Given the description of an element on the screen output the (x, y) to click on. 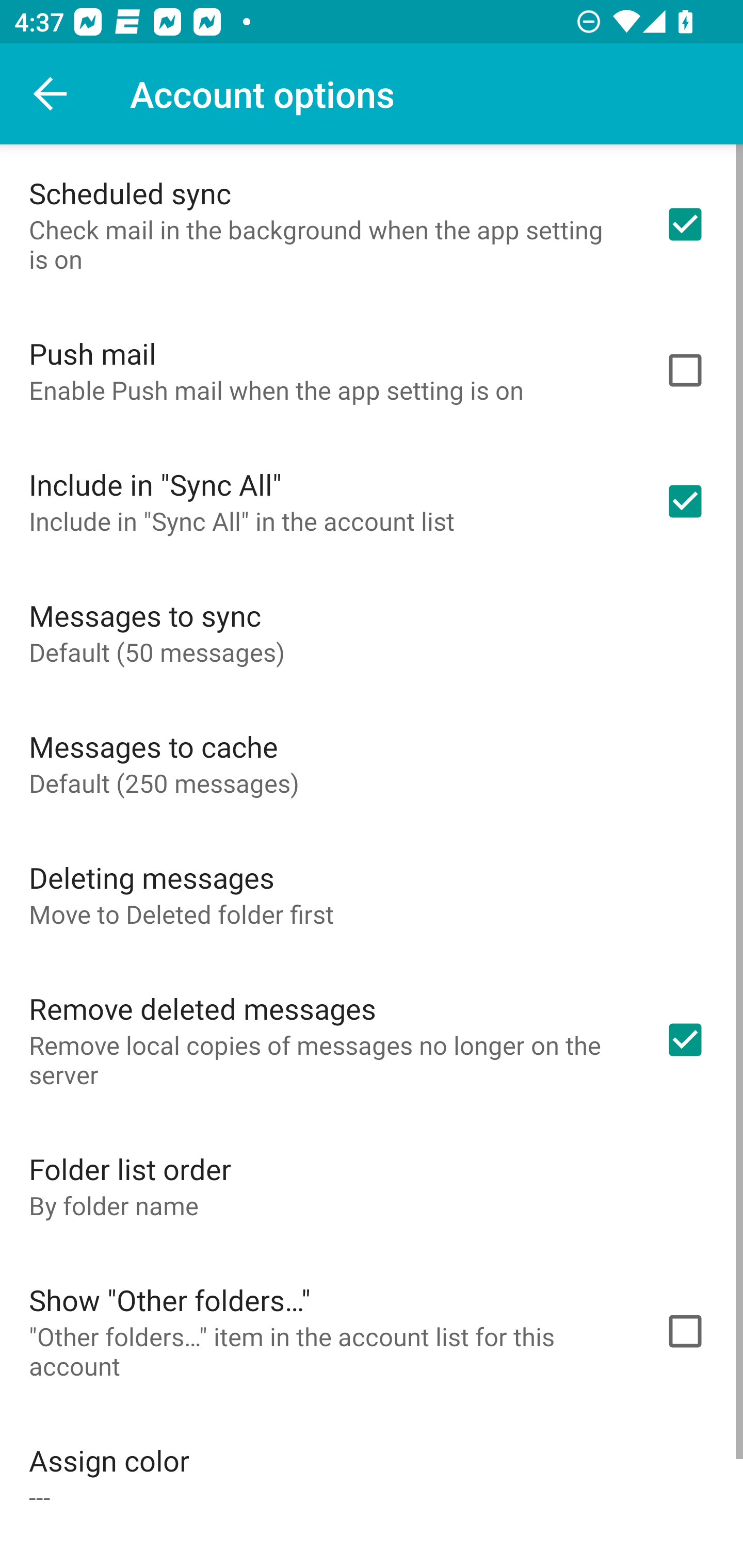
Navigate up (50, 93)
Messages to sync Default (50 messages) (371, 632)
Messages to cache Default (250 messages) (371, 763)
Deleting messages Move to Deleted folder first (371, 894)
Folder list order By folder name (371, 1185)
Assign color --- (371, 1476)
